Given the description of an element on the screen output the (x, y) to click on. 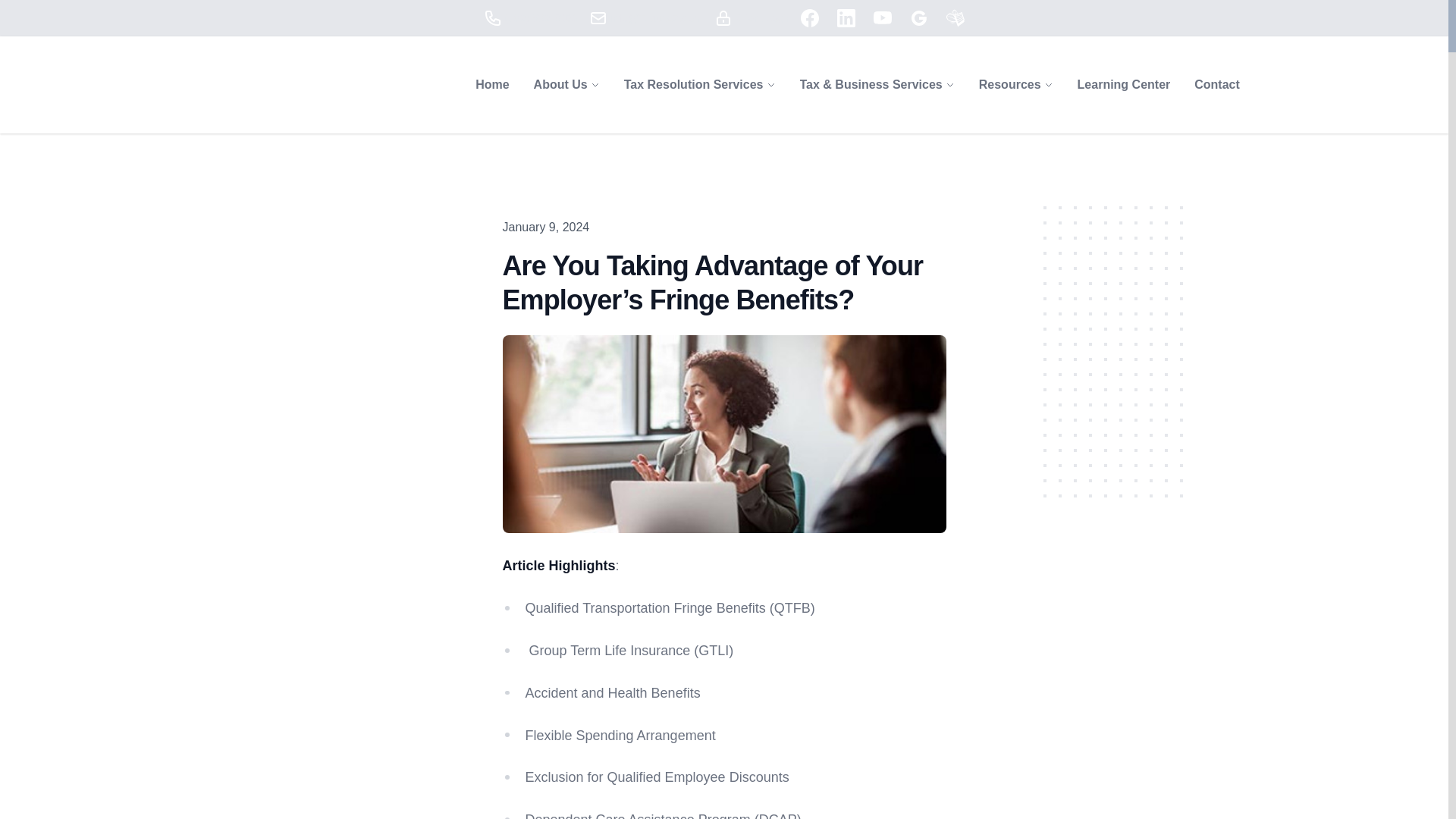
Facebook (809, 18)
Home (492, 84)
Home (492, 84)
LinkedIn (846, 18)
Tudor Financial Group (163, 84)
About Us (561, 85)
phone (492, 18)
Client Hub (723, 18)
Client Login (753, 18)
YouTube (882, 18)
Tax Resolution Services (693, 85)
